Given the description of an element on the screen output the (x, y) to click on. 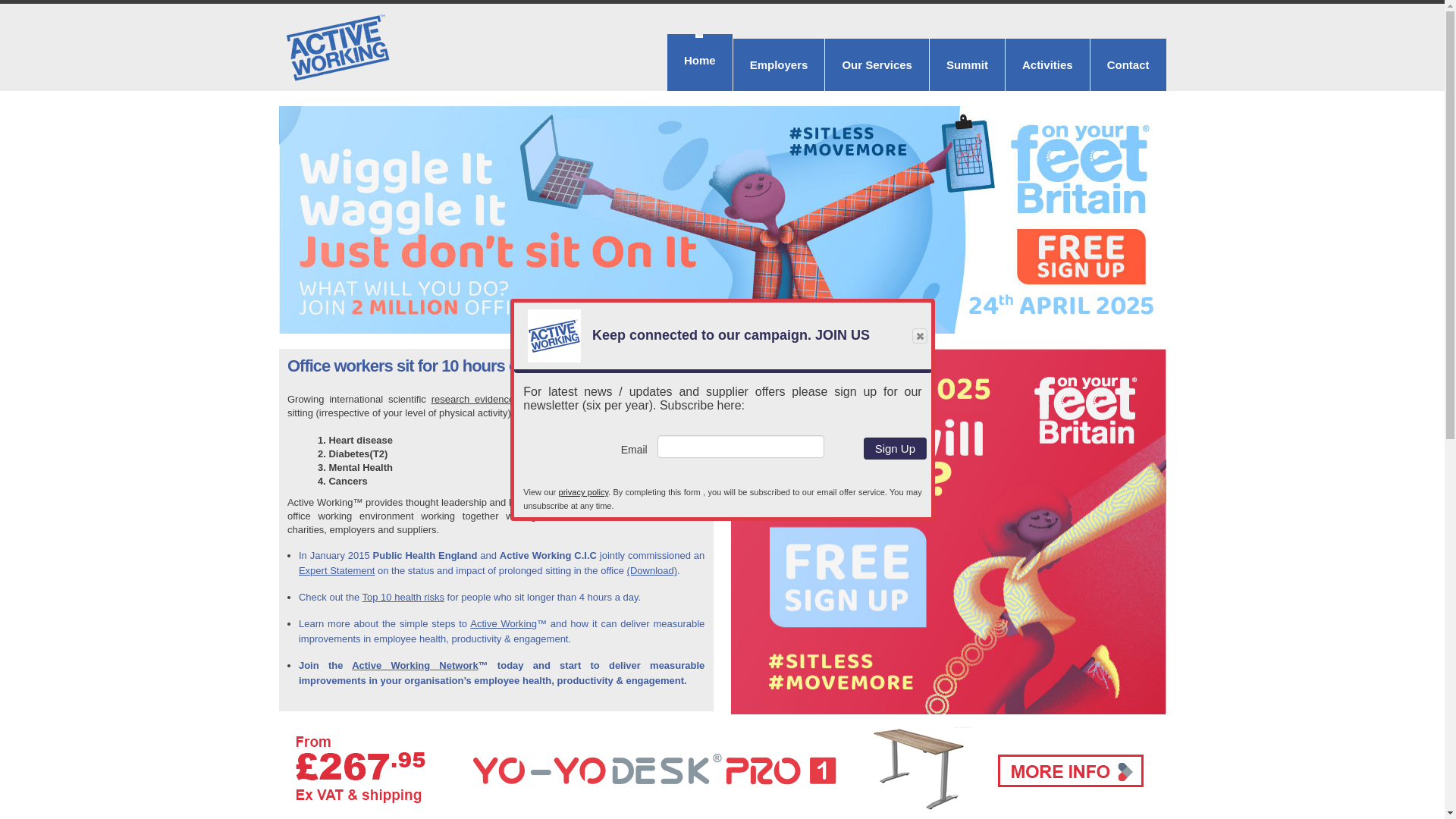
Summit (967, 64)
Contact (1128, 64)
Employers (779, 64)
Home (699, 62)
Close (919, 335)
Activities (1047, 64)
Our Services (876, 64)
